Given the description of an element on the screen output the (x, y) to click on. 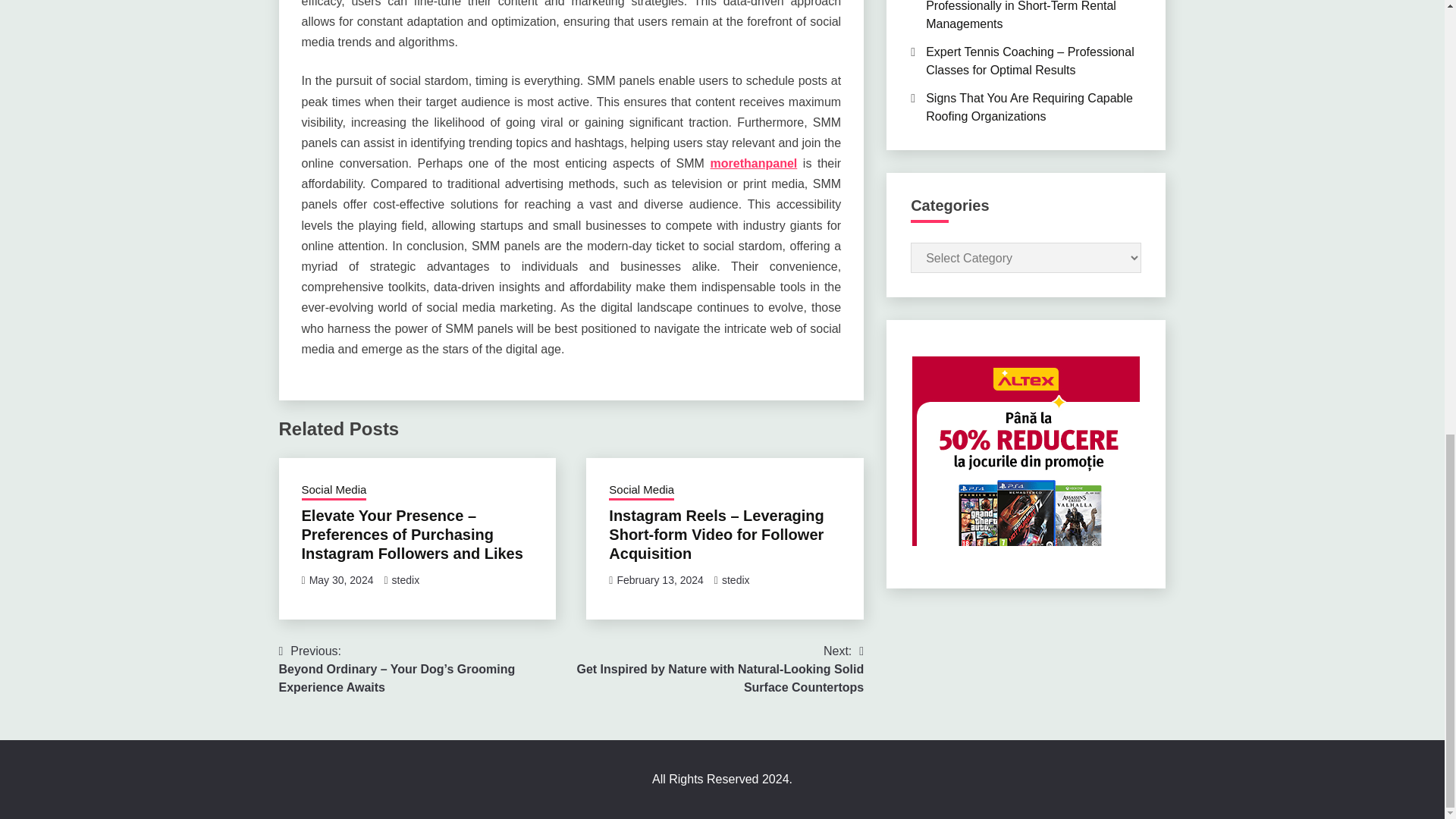
Social Media (333, 491)
Social Media (641, 491)
February 13, 2024 (659, 580)
morethanpanel (753, 163)
stedix (405, 580)
stedix (735, 580)
May 30, 2024 (341, 580)
